Given the description of an element on the screen output the (x, y) to click on. 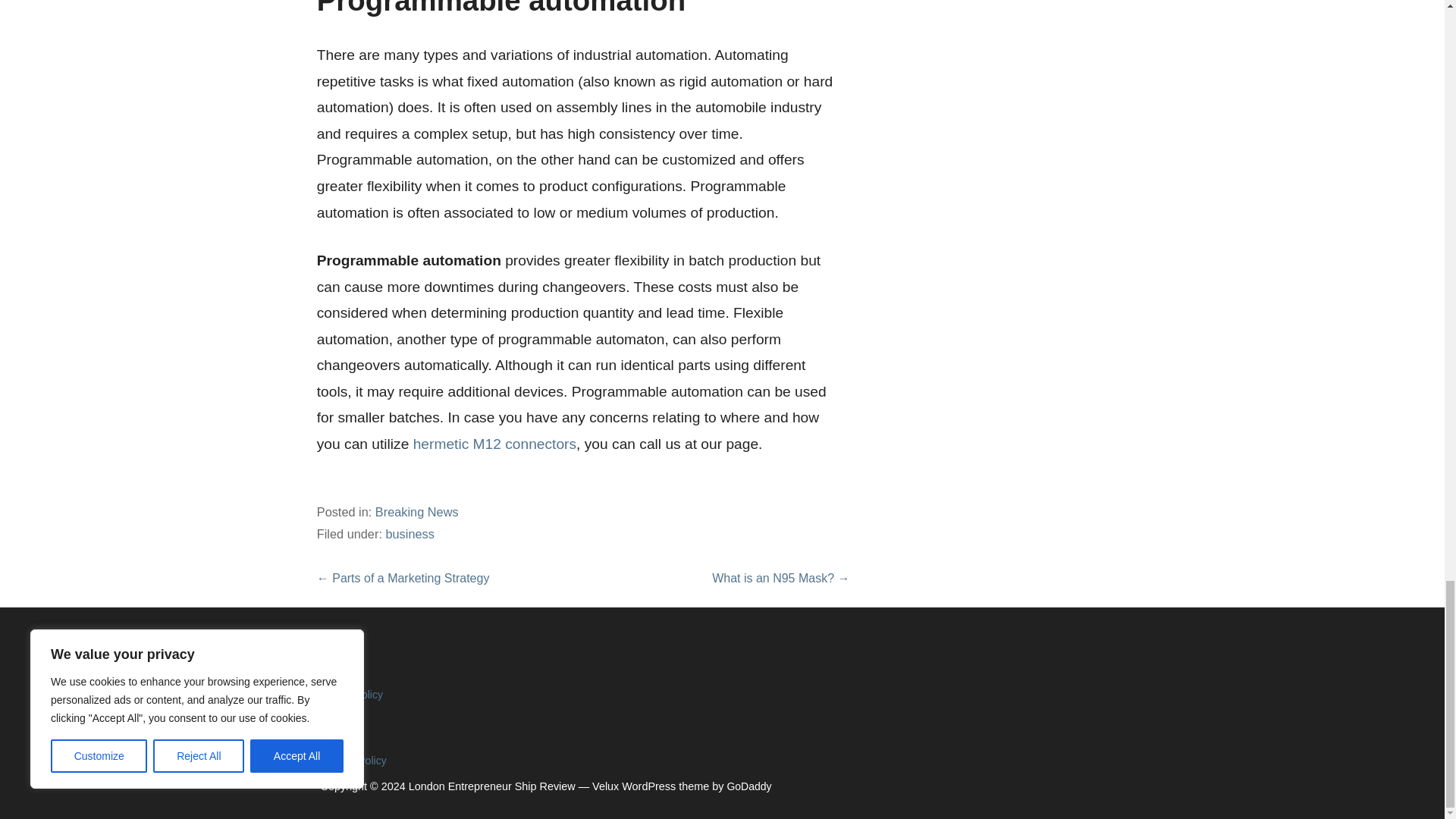
hermetic M12 connectors (494, 443)
business (409, 533)
Breaking News (416, 511)
